Given the description of an element on the screen output the (x, y) to click on. 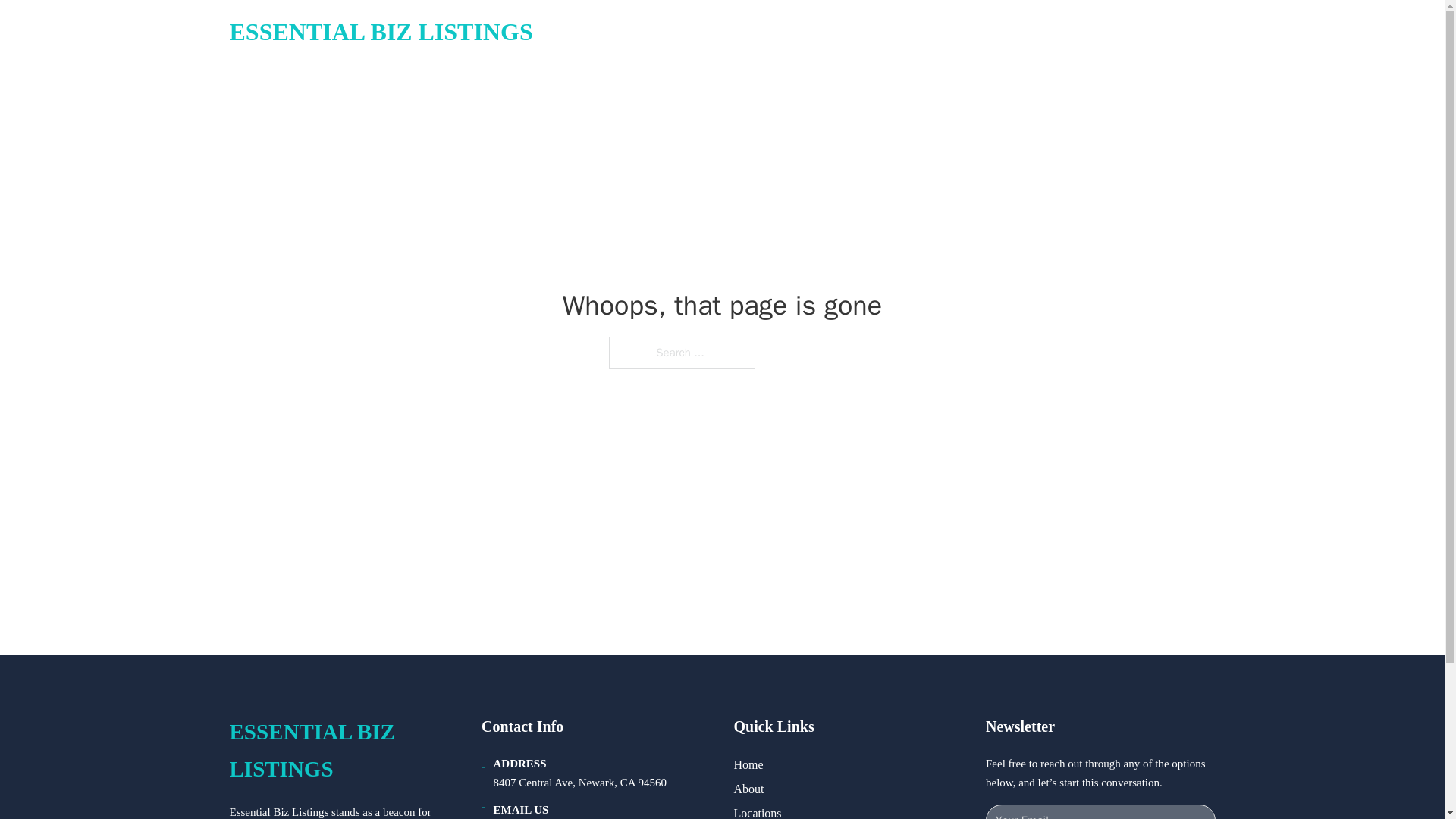
ESSENTIAL BIZ LISTINGS (343, 750)
About (748, 788)
HOME (1032, 31)
LOCATIONS (1105, 31)
ESSENTIAL BIZ LISTINGS (380, 31)
Locations (757, 811)
Home (747, 764)
